Given the description of an element on the screen output the (x, y) to click on. 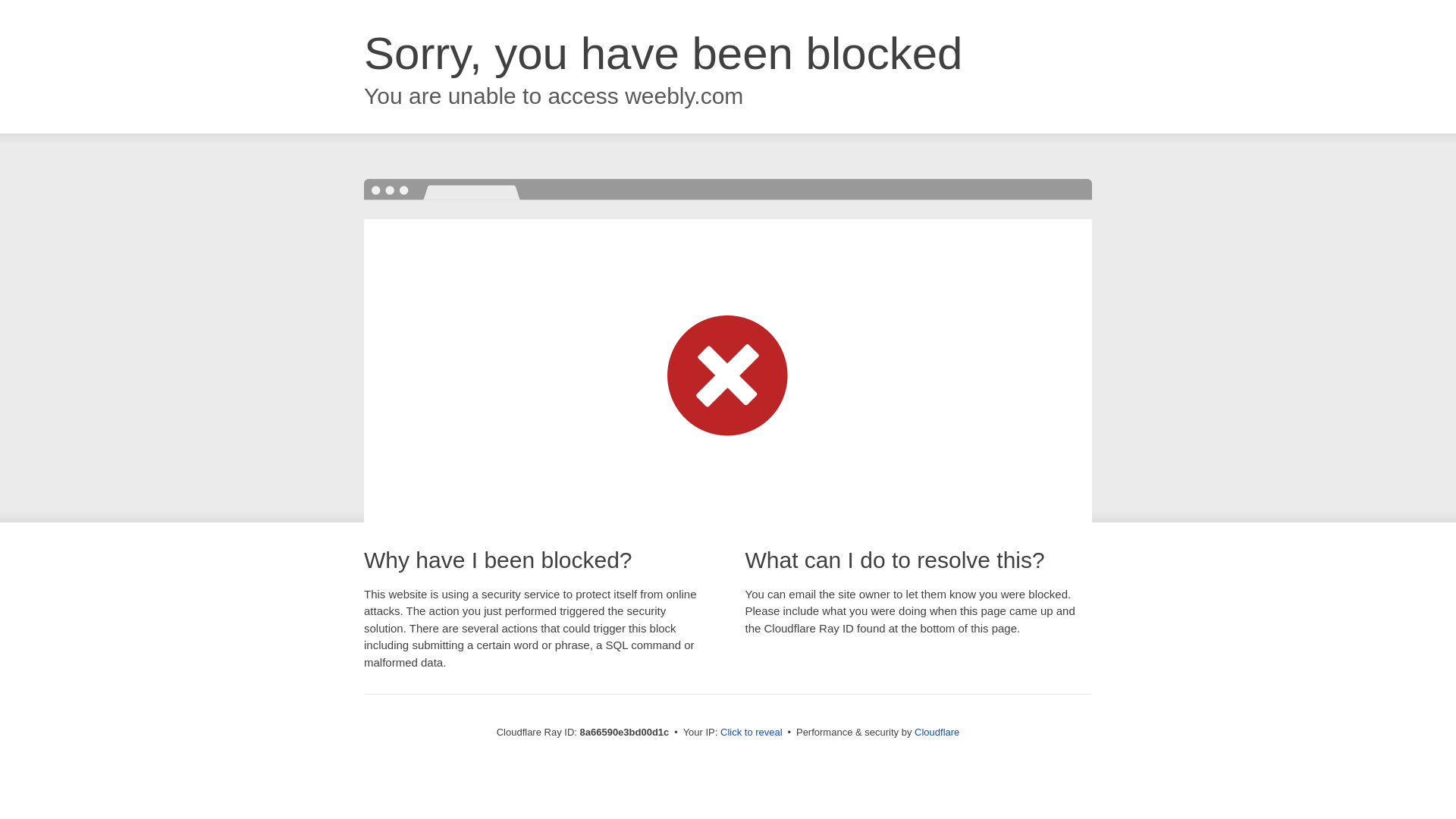
Cloudflare (936, 731)
Click to reveal (751, 732)
